Given the description of an element on the screen output the (x, y) to click on. 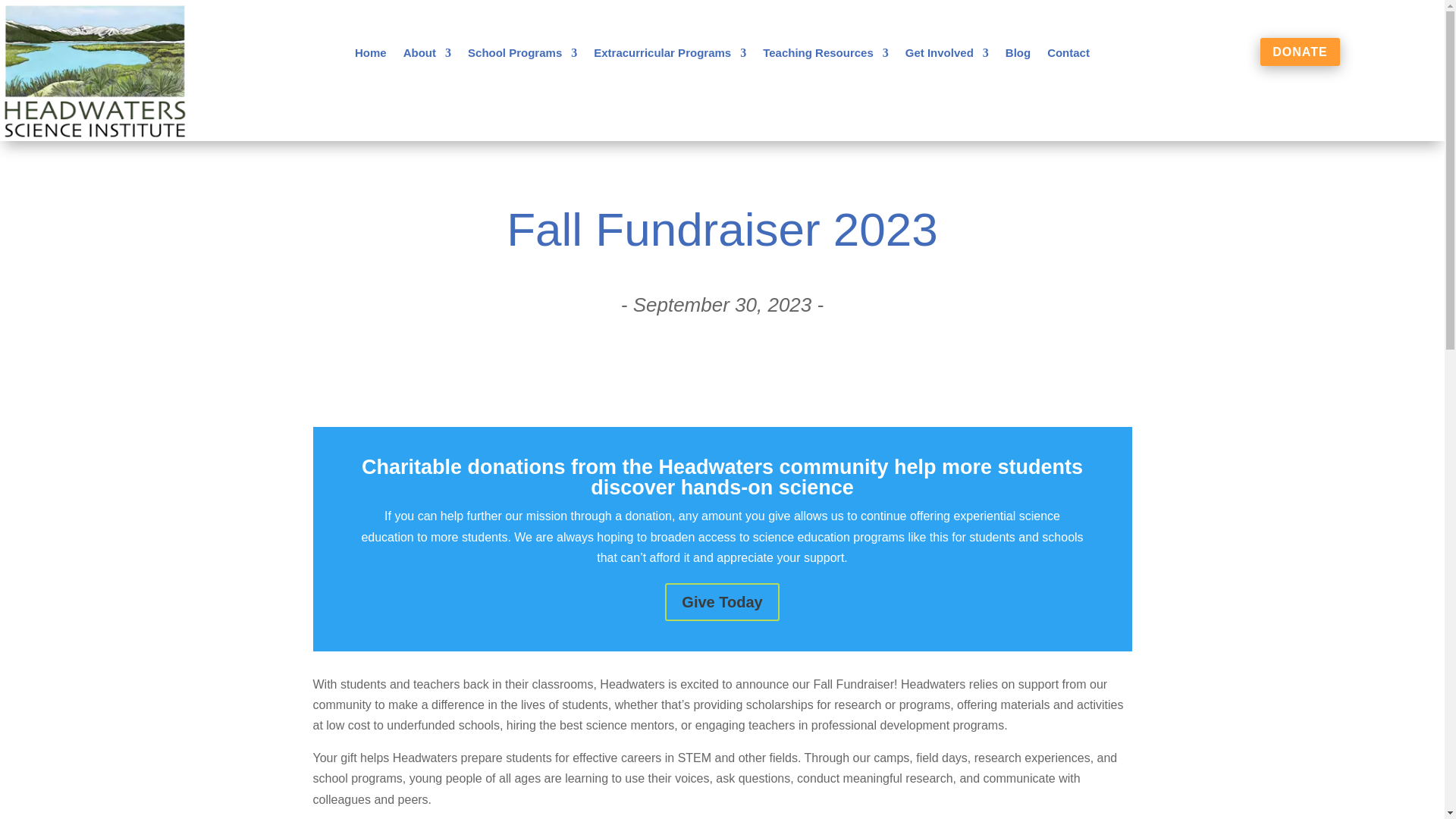
Blog (1018, 55)
Teaching Resources (825, 55)
HEADWATERS-LOGO-SMALL (94, 70)
Home (371, 55)
Extracurricular Programs (669, 55)
Get Involved (946, 55)
Contact (1067, 55)
School Programs (521, 55)
DONATE (1299, 51)
About (427, 55)
Give Today (721, 601)
